Given the description of an element on the screen output the (x, y) to click on. 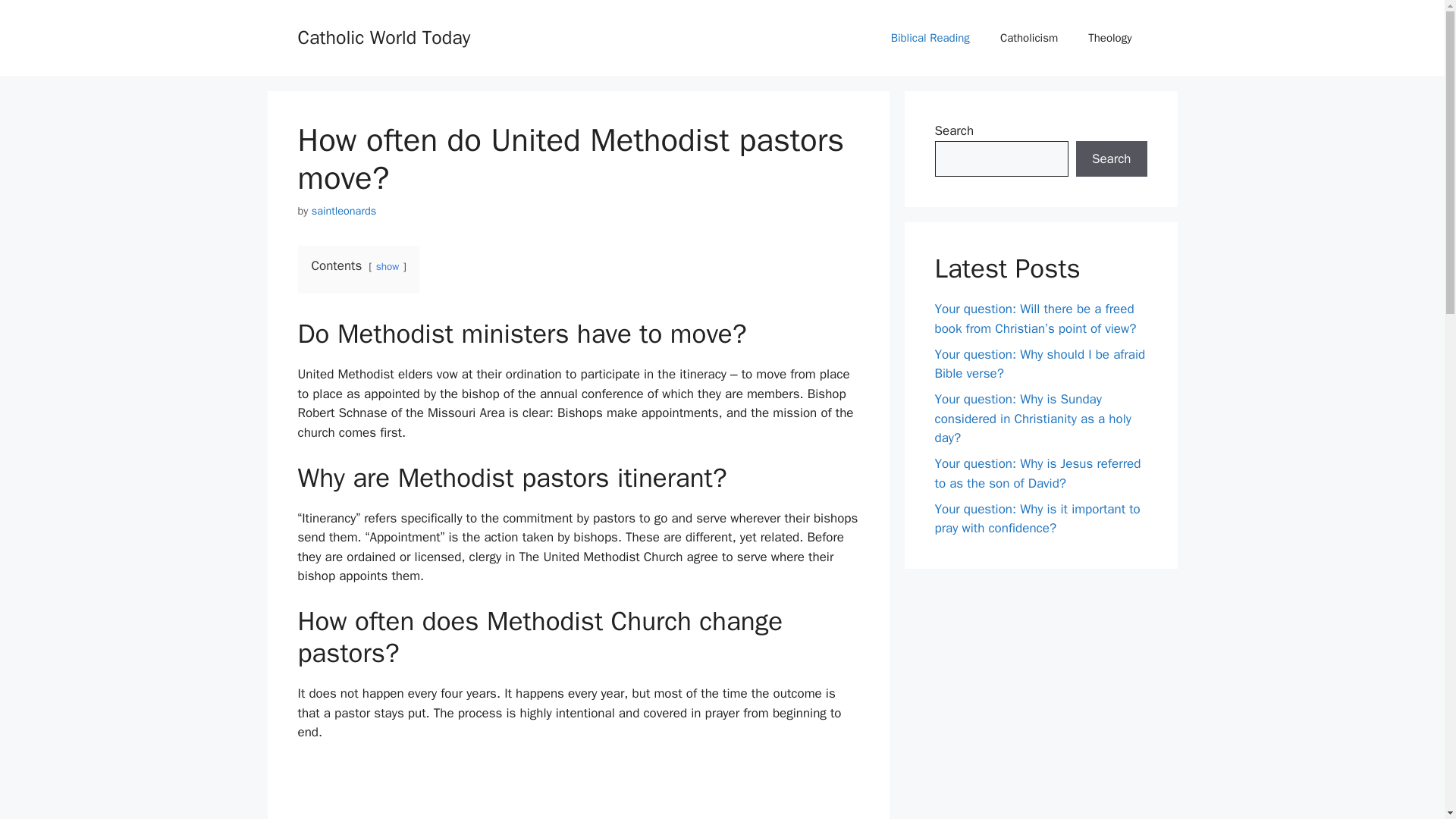
Your question: Why is Jesus referred to as the son of David? (1037, 473)
show (386, 266)
Your question: Why should I be afraid Bible verse? (1039, 363)
Your question: Why is it important to pray with confidence? (1037, 518)
Theology (1110, 37)
View all posts by saintleonards (344, 210)
Biblical Reading (930, 37)
Catholicism (1029, 37)
Catholic World Today (383, 37)
saintleonards (344, 210)
Search (1111, 158)
